Given the description of an element on the screen output the (x, y) to click on. 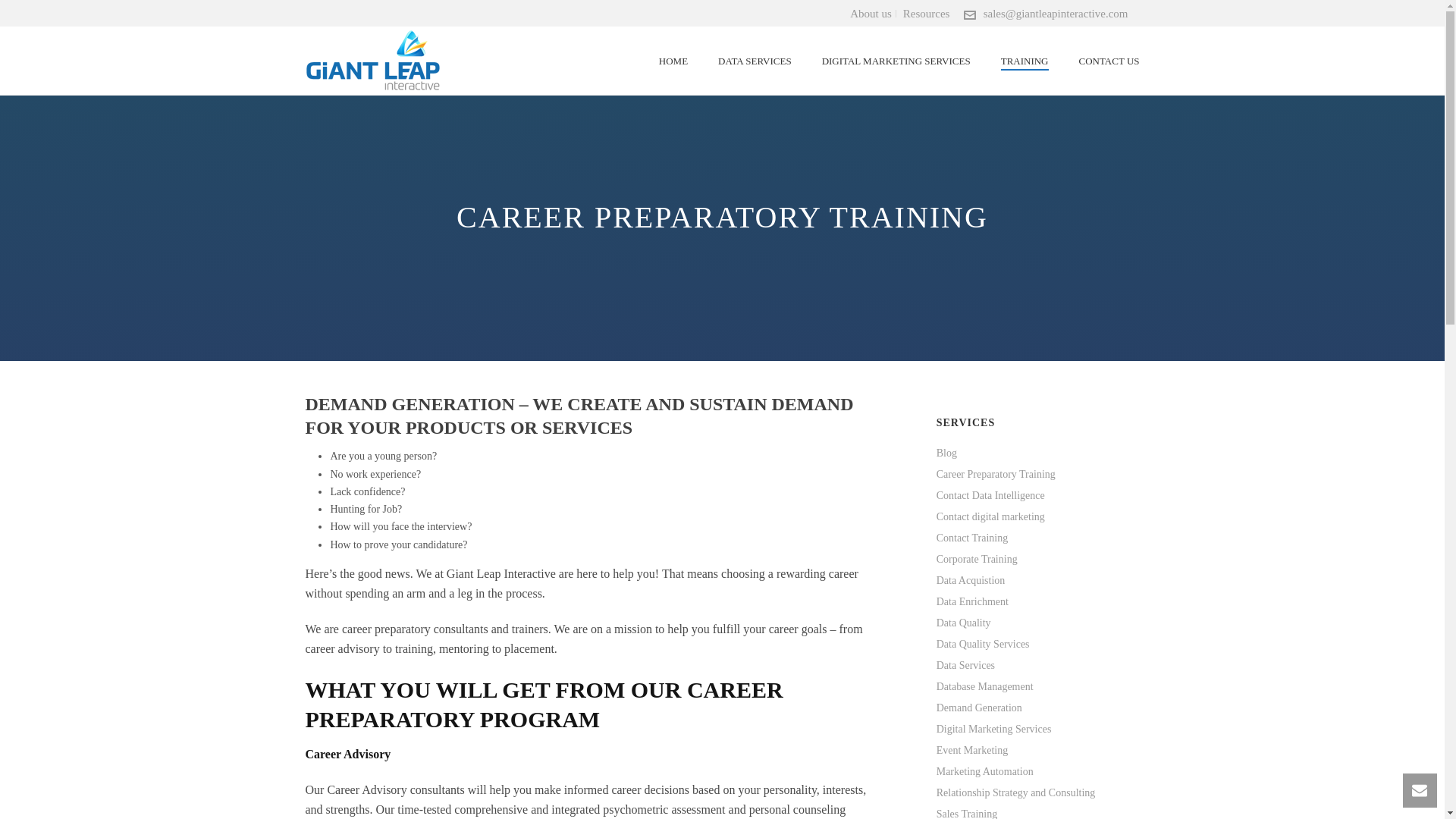
DATA SERVICES (754, 61)
HOME (673, 61)
Resources (926, 13)
DIGITAL MARKETING SERVICES (895, 61)
Blog (946, 453)
About us (870, 13)
TRAINING (1024, 61)
HOME (673, 61)
TRAINING (1024, 61)
Improve your brand visibility (372, 60)
DATA SERVICES (754, 61)
DIGITAL MARKETING SERVICES (895, 61)
CONTACT US (1109, 61)
CONTACT US (1109, 61)
